Given the description of an element on the screen output the (x, y) to click on. 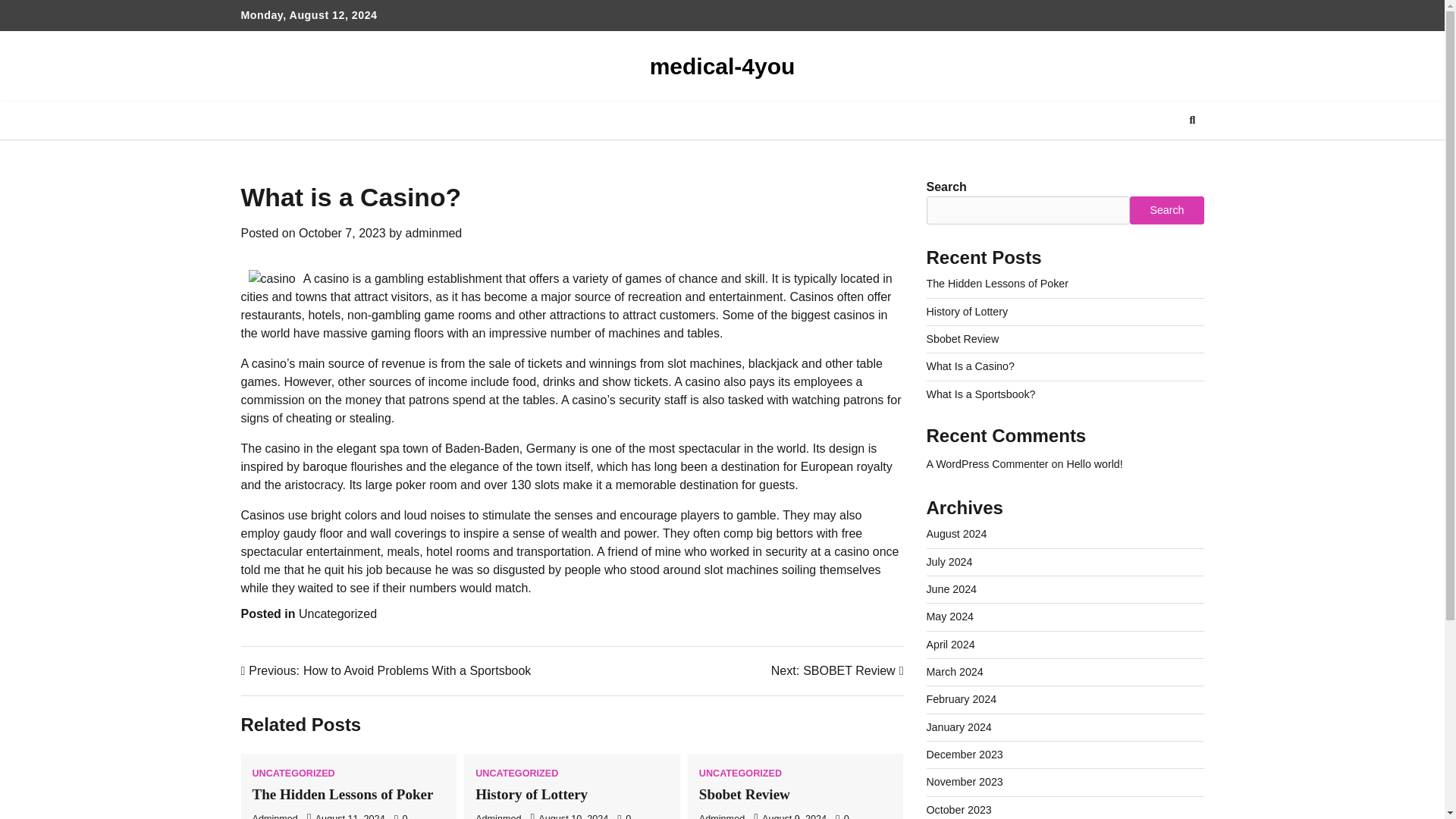
Sbobet Review (744, 794)
What Is a Casino? (970, 366)
adminmed (434, 232)
July 2024 (949, 562)
Adminmed (498, 816)
October 2023 (958, 809)
What Is a Sportsbook? (980, 394)
May 2024 (950, 616)
UNCATEGORIZED (739, 773)
The Hidden Lessons of Poker (997, 283)
